Given the description of an element on the screen output the (x, y) to click on. 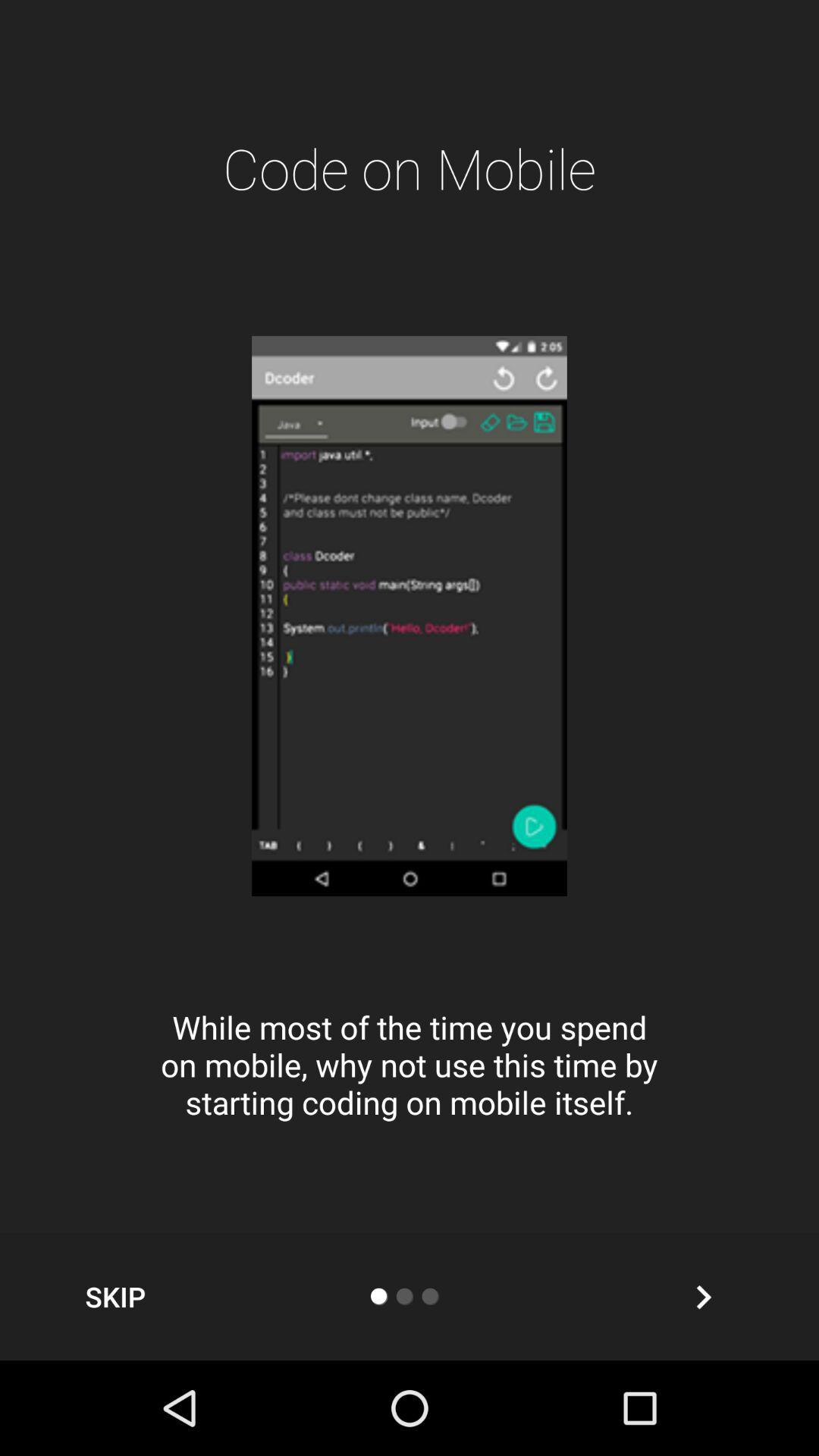
go to next page (703, 1296)
